Given the description of an element on the screen output the (x, y) to click on. 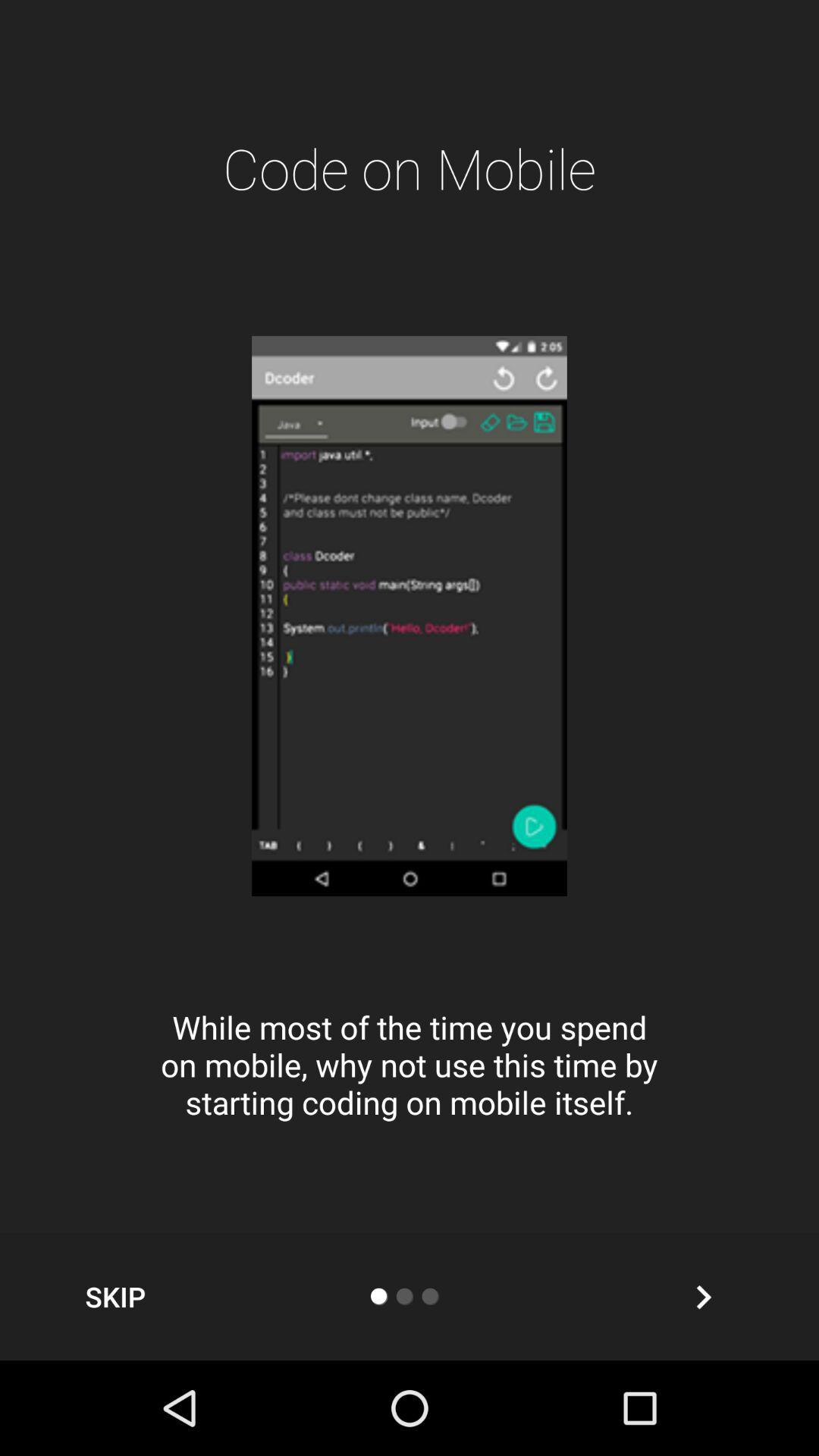
go to next page (703, 1296)
